Given the description of an element on the screen output the (x, y) to click on. 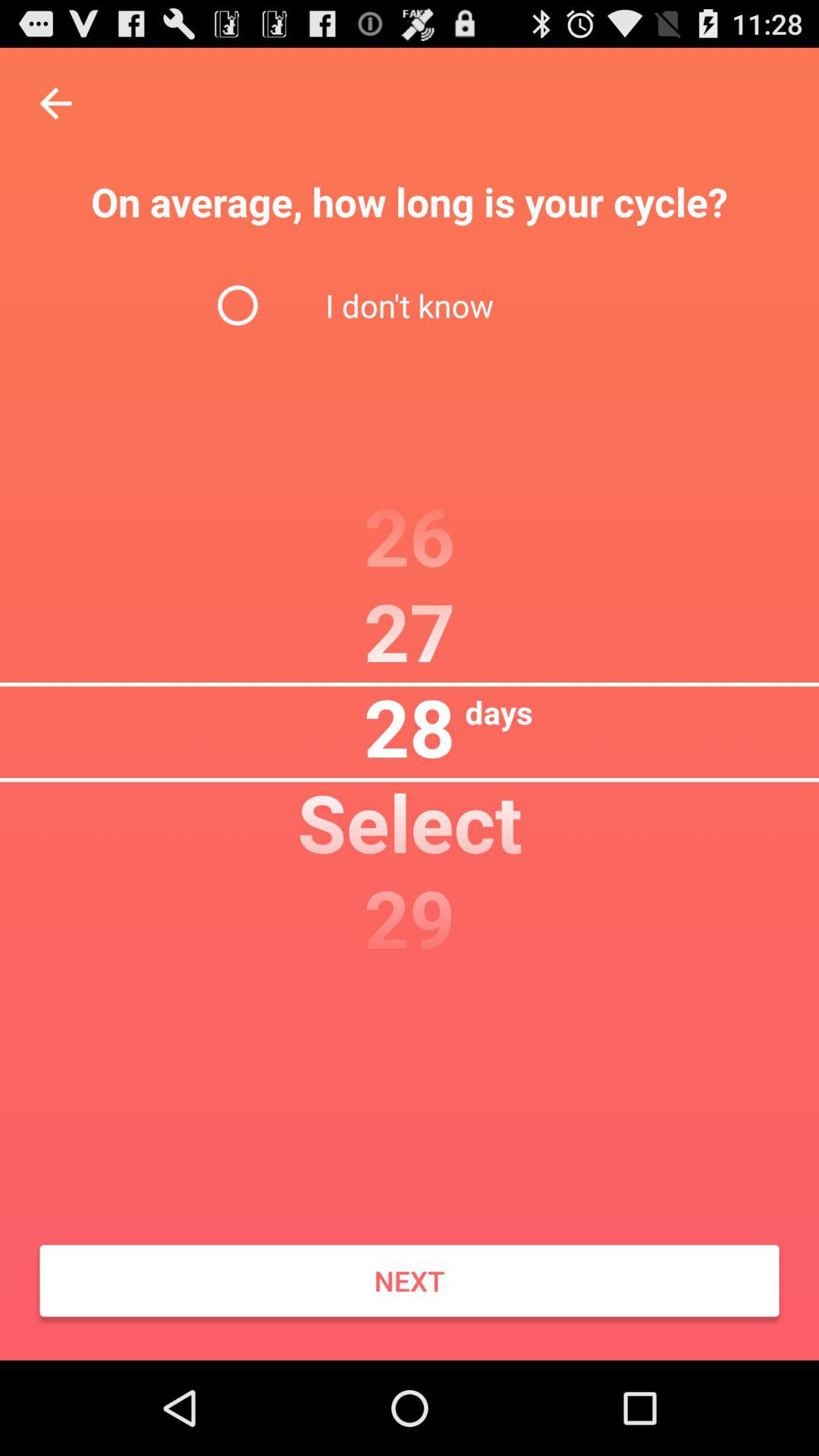
scroll until the next item (409, 1280)
